Given the description of an element on the screen output the (x, y) to click on. 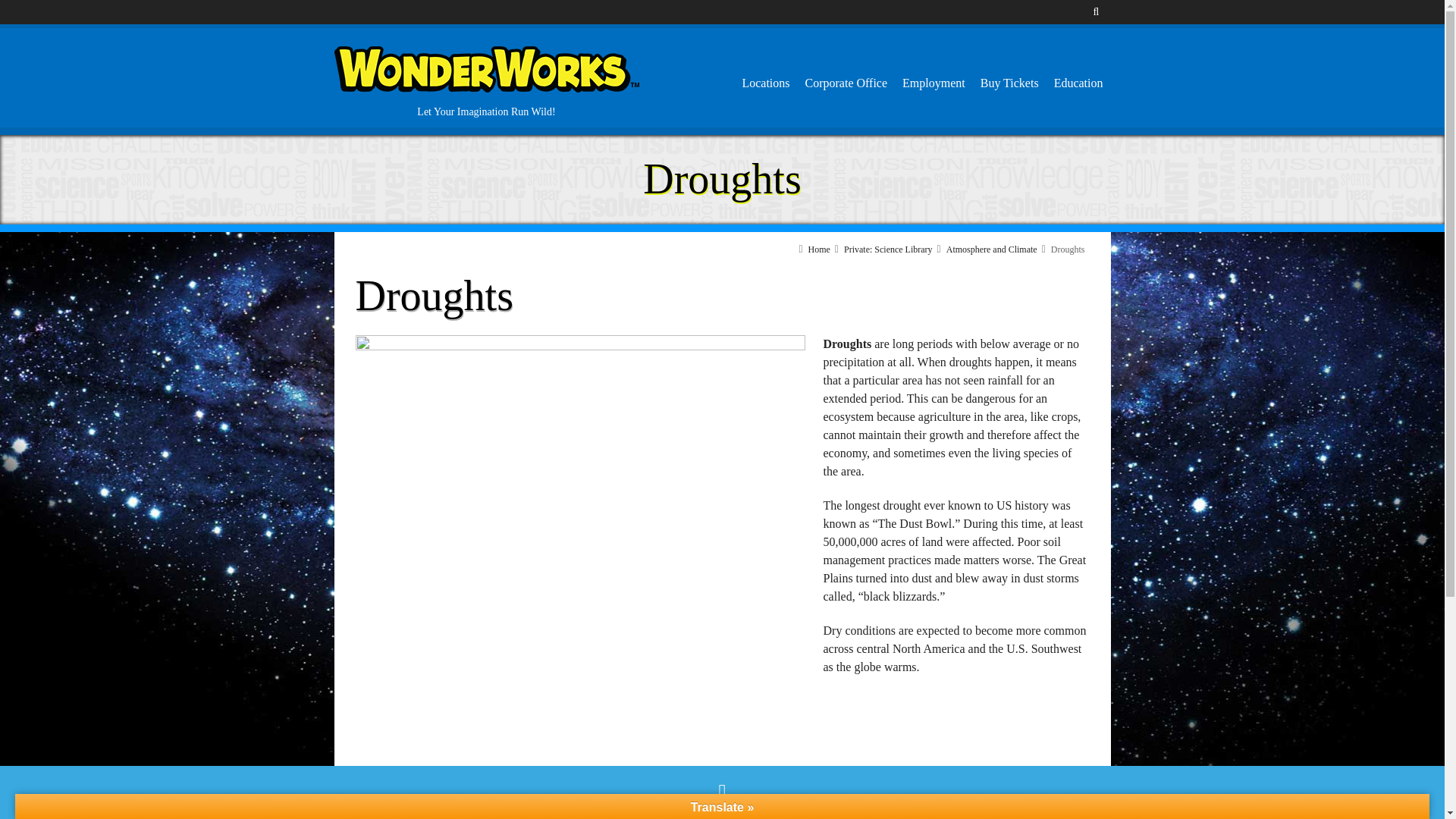
Education (1078, 83)
Locations (764, 83)
Employment (933, 83)
Private: Science Library (888, 249)
Buy Tickets (1009, 83)
Corporate Office (846, 83)
Atmosphere and Climate (991, 249)
Home (818, 249)
Search (1086, 110)
Go back to the homepage (486, 70)
